Given the description of an element on the screen output the (x, y) to click on. 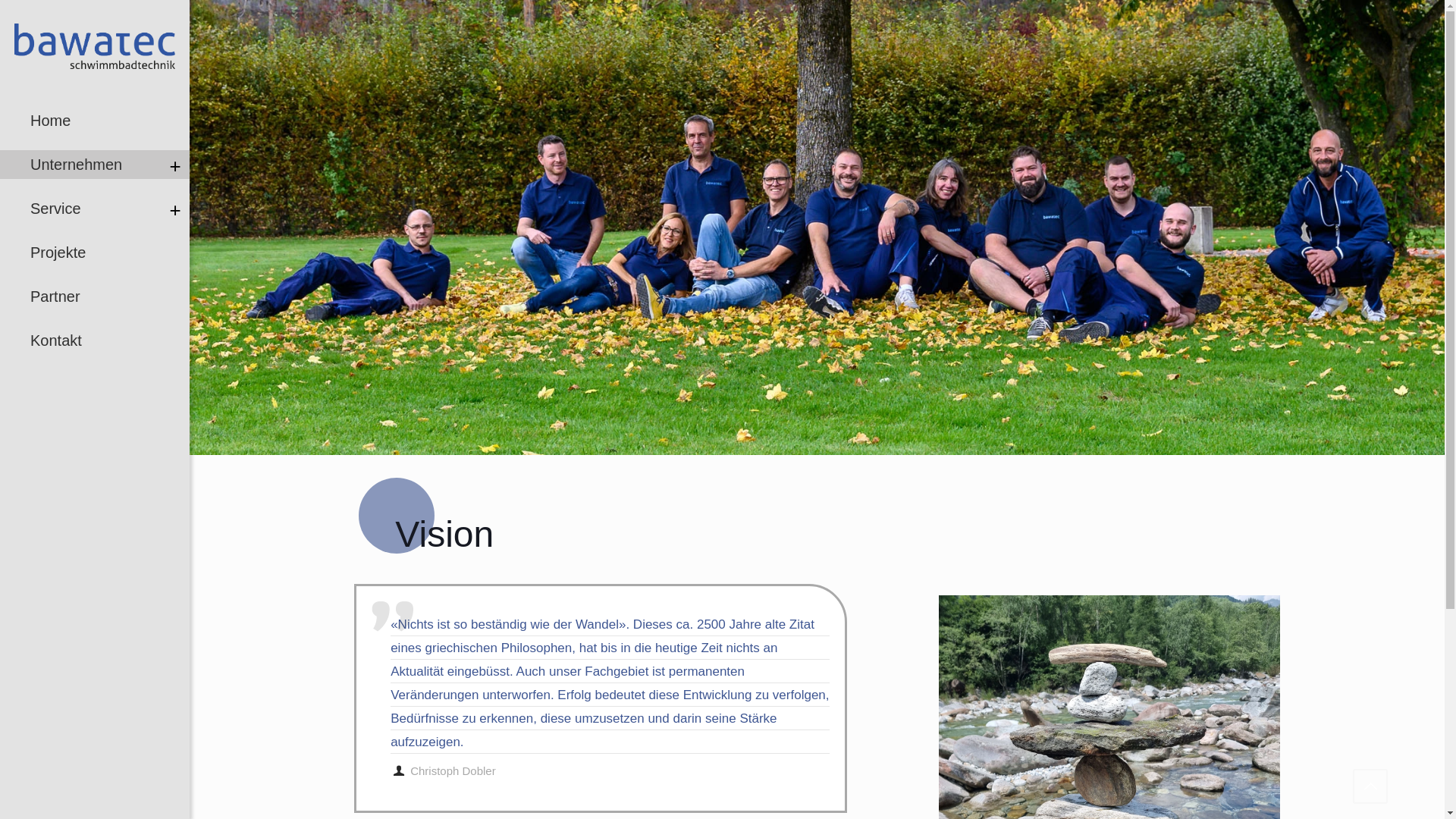
Service Element type: text (94, 208)
Partner Element type: text (94, 296)
Kontakt Element type: text (94, 340)
bawatec Element type: hover (94, 45)
Home Element type: text (94, 120)
Unternehmen Element type: text (94, 164)
Projekte Element type: text (94, 252)
Z61_9099 Element type: hover (816, 227)
